Given the description of an element on the screen output the (x, y) to click on. 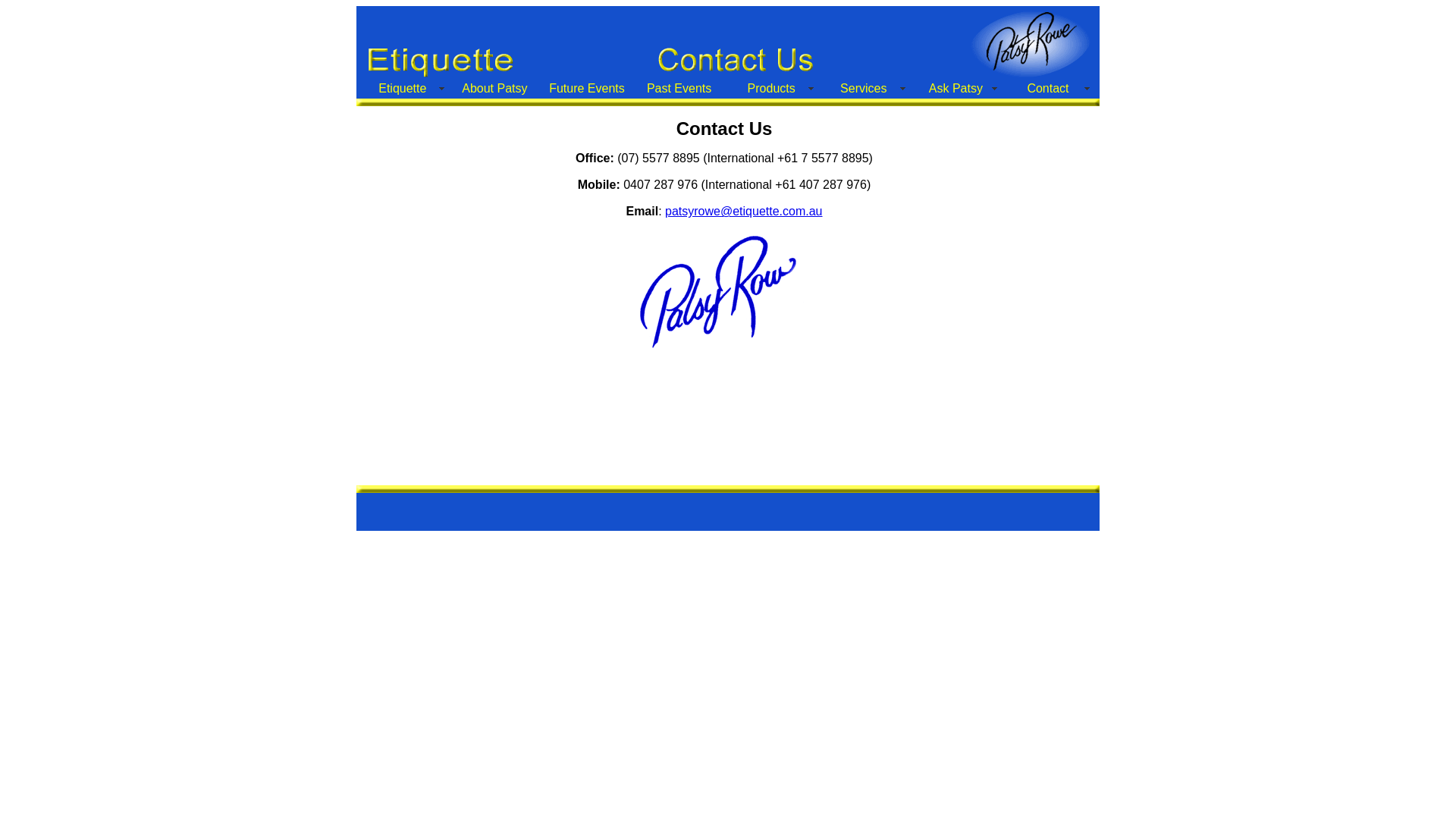
Contact Element type: text (1047, 88)
patsyrowe@etiquette.com.au Element type: text (743, 210)
About Patsy Element type: text (494, 88)
Ask Patsy Element type: text (956, 88)
Services Element type: text (863, 88)
Etiquette Element type: text (402, 88)
Past Events Element type: text (679, 88)
Future Events Element type: text (586, 88)
Products Element type: text (770, 88)
